Given the description of an element on the screen output the (x, y) to click on. 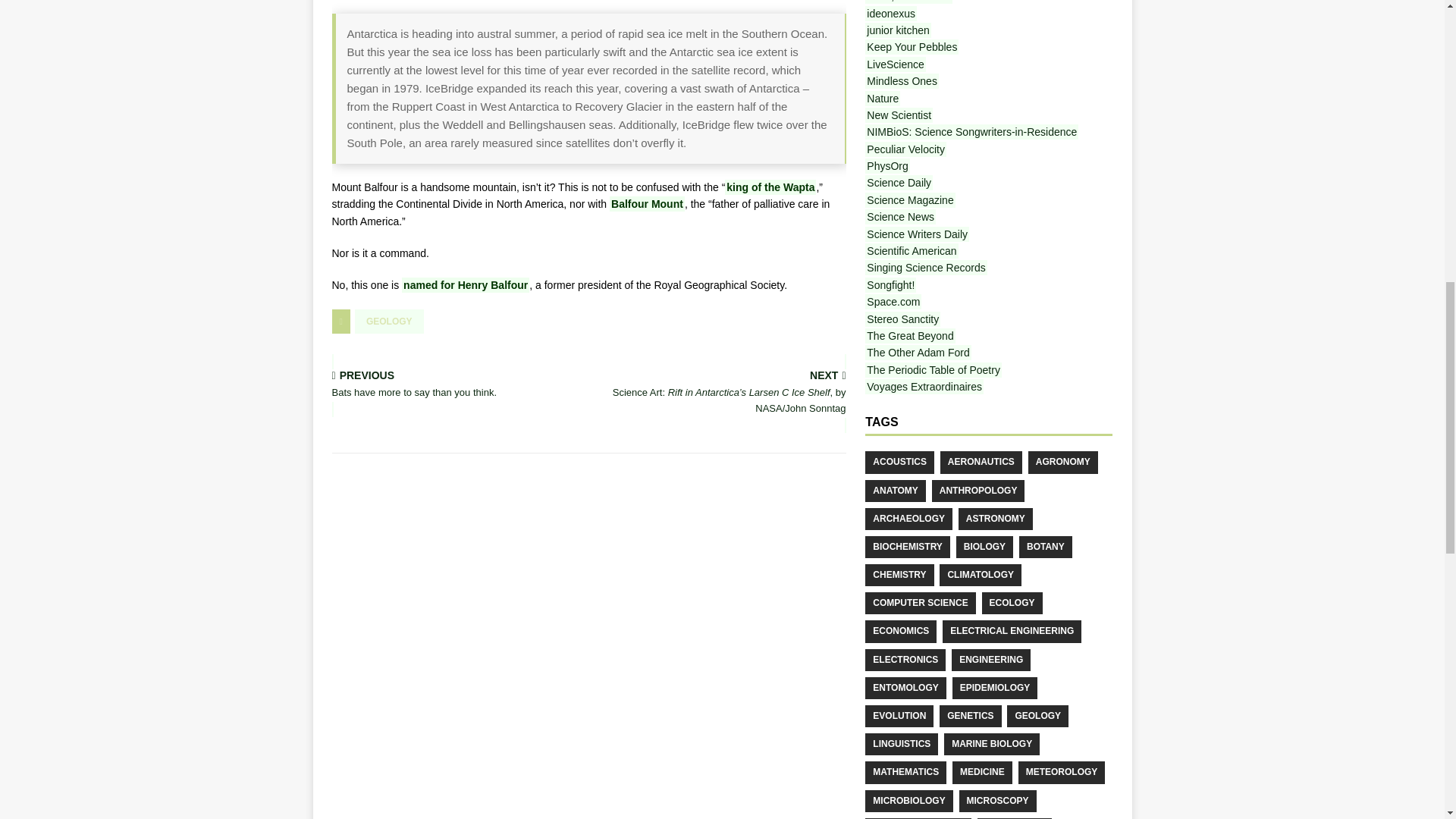
Hello, Poindexter! (908, 2)
named for Henry Balfour (457, 384)
king of the Wapta (465, 284)
Balfour Mount (770, 186)
junior kitchen (647, 203)
ideonexus (897, 29)
GEOLOGY (890, 13)
Keep Your Pebbles (389, 321)
